Given the description of an element on the screen output the (x, y) to click on. 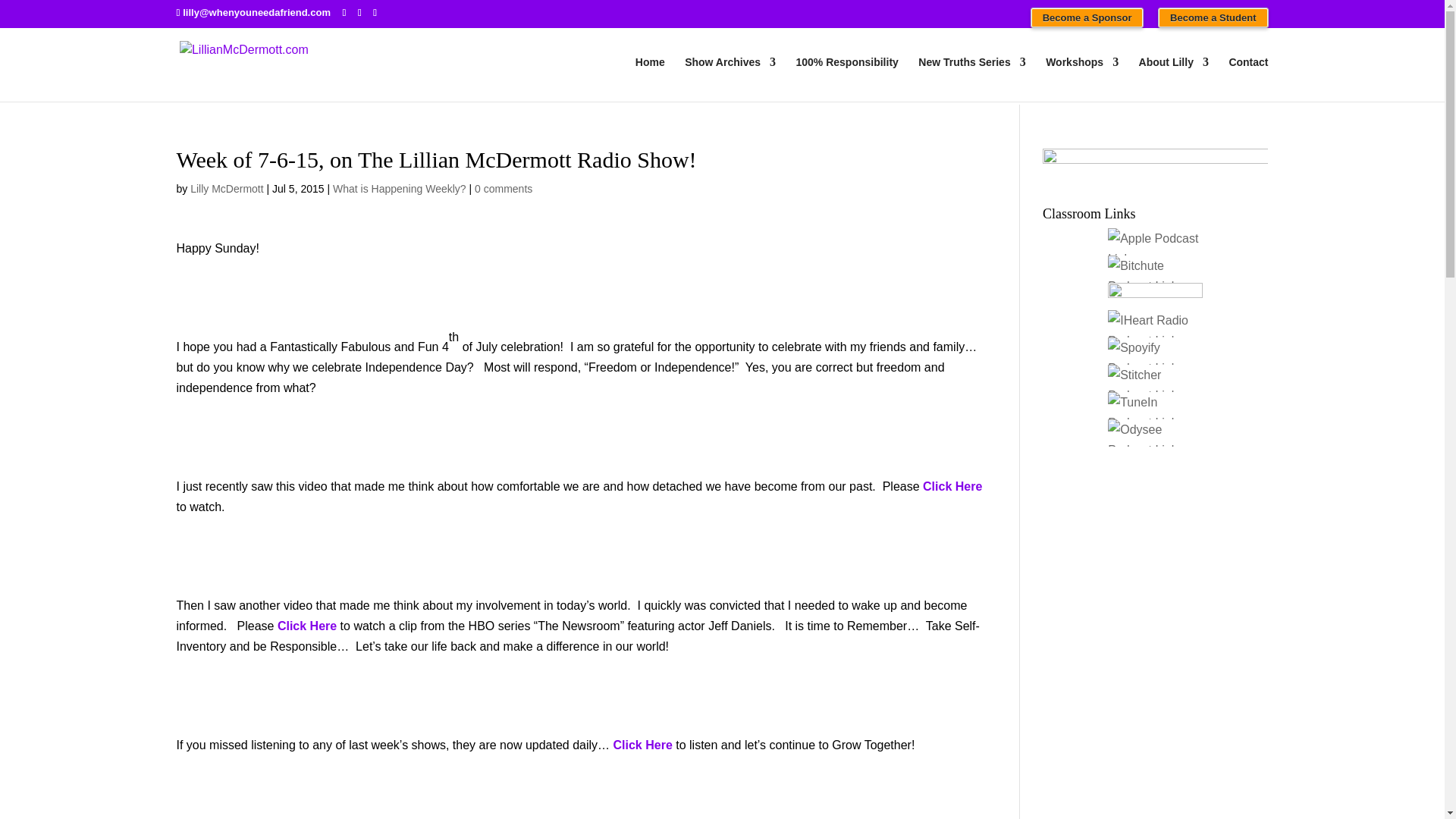
New Truths Series (971, 78)
Become a Sponsor (1086, 17)
Lilly McDermott (226, 188)
Posts by Lilly McDermott (226, 188)
About Lilly (1173, 78)
Workshops (1081, 78)
Become a Student (1212, 17)
Show Archives (730, 78)
